Given the description of an element on the screen output the (x, y) to click on. 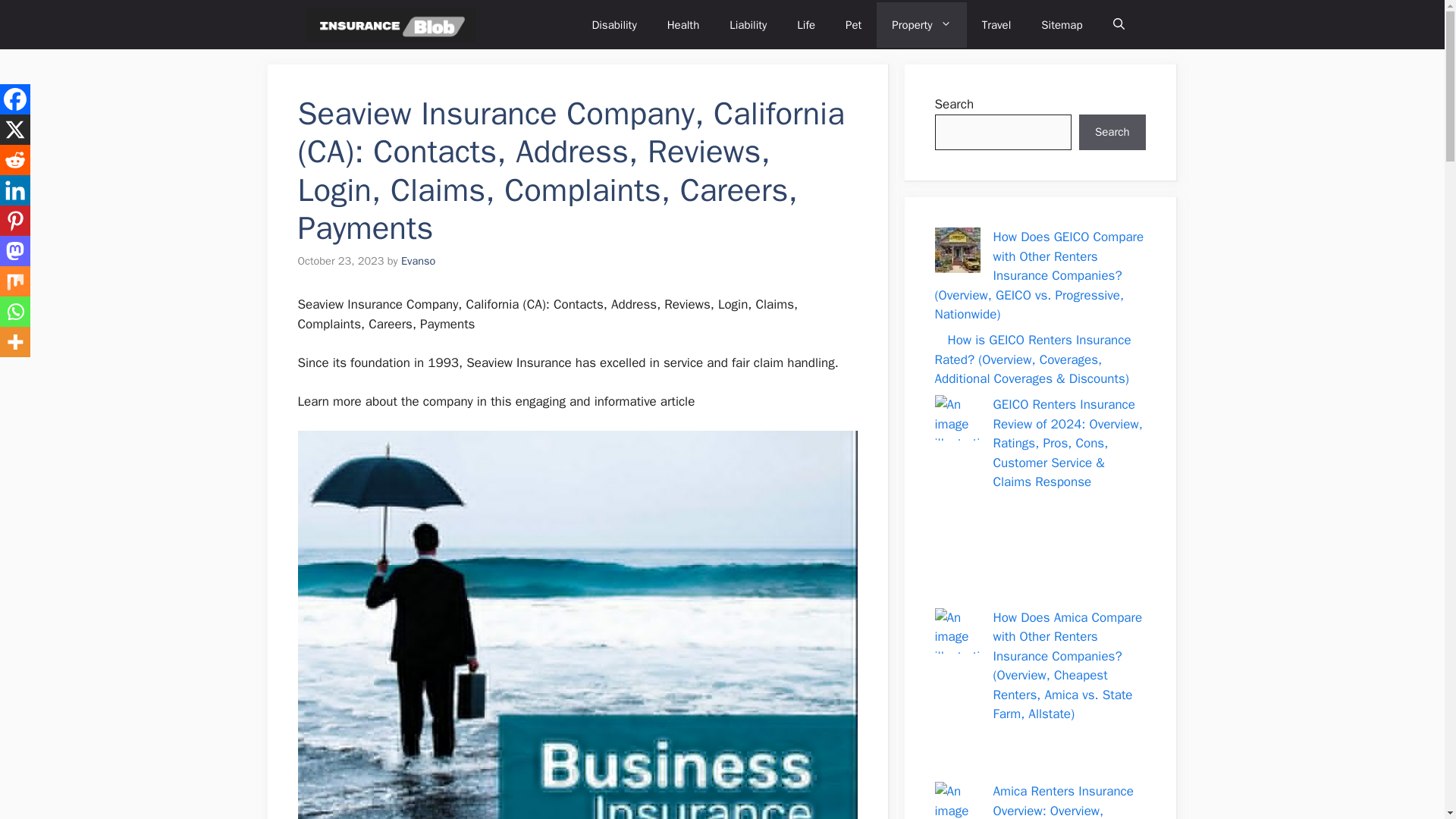
Linkedin (15, 190)
Sitemap (1061, 23)
Facebook (15, 99)
Reddit (15, 159)
Life (805, 23)
Pet (852, 23)
Health (683, 23)
Insurance Blob (390, 24)
X (15, 129)
Travel (996, 23)
